Given the description of an element on the screen output the (x, y) to click on. 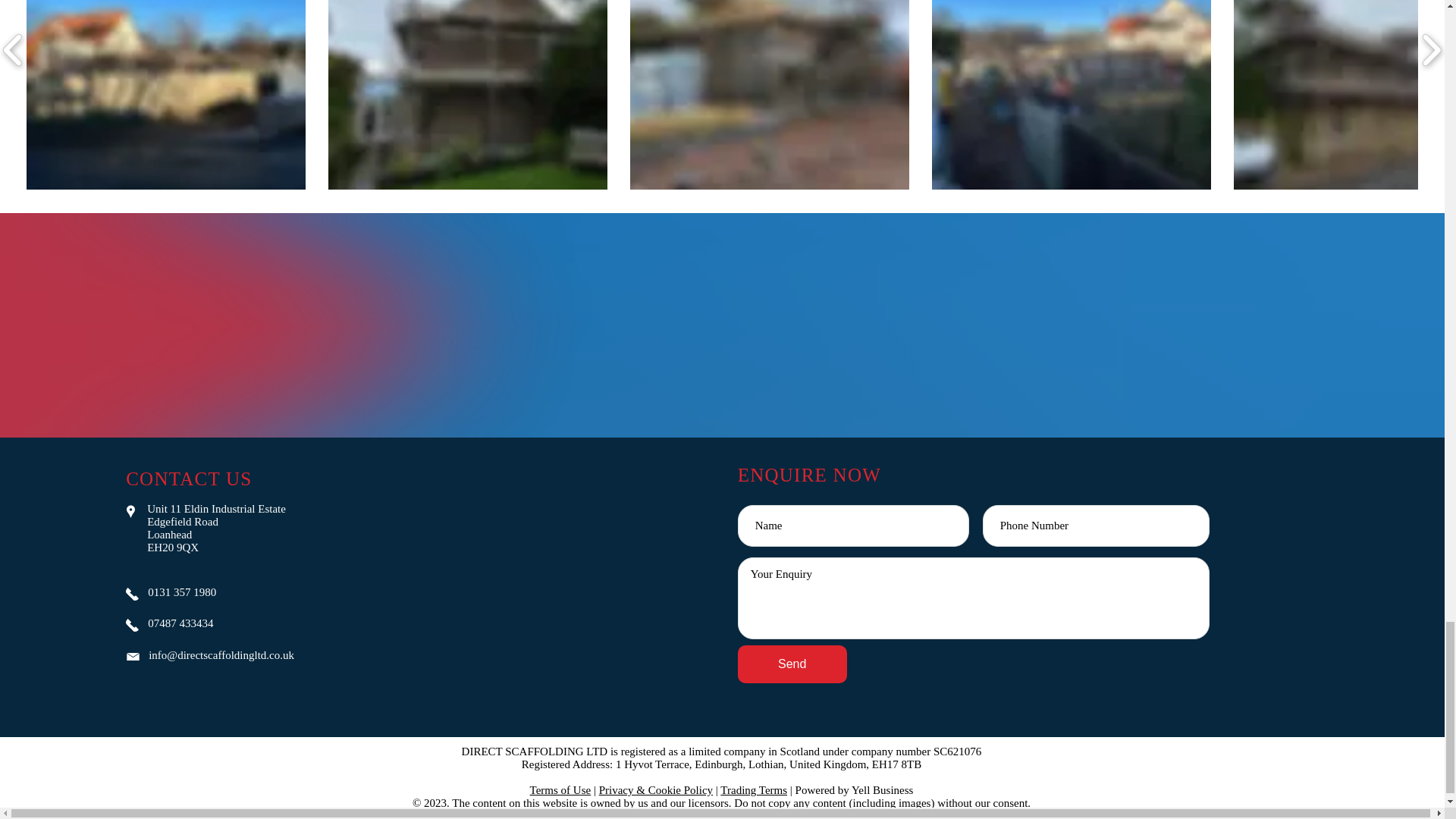
Trading Terms (753, 789)
Terms of Use (560, 789)
Send (792, 664)
